Given the description of an element on the screen output the (x, y) to click on. 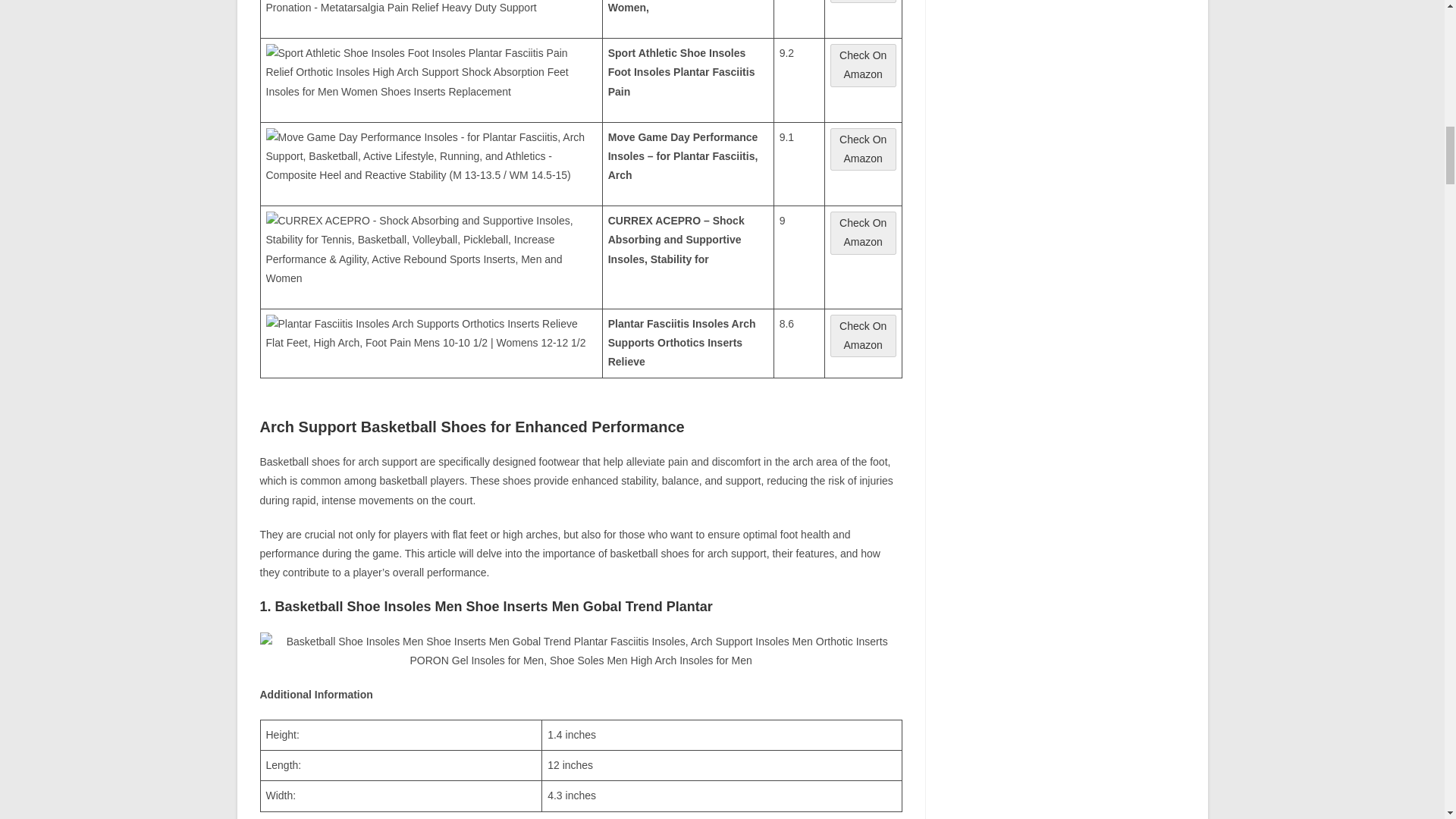
Check On Amazon (862, 345)
Check On Amazon (862, 241)
Check On Amazon (862, 1)
Check On Amazon (862, 335)
Check On Amazon (862, 73)
Check On Amazon (862, 65)
Check On Amazon (862, 158)
Check On Amazon (862, 232)
Check On Amazon (862, 148)
